Given the description of an element on the screen output the (x, y) to click on. 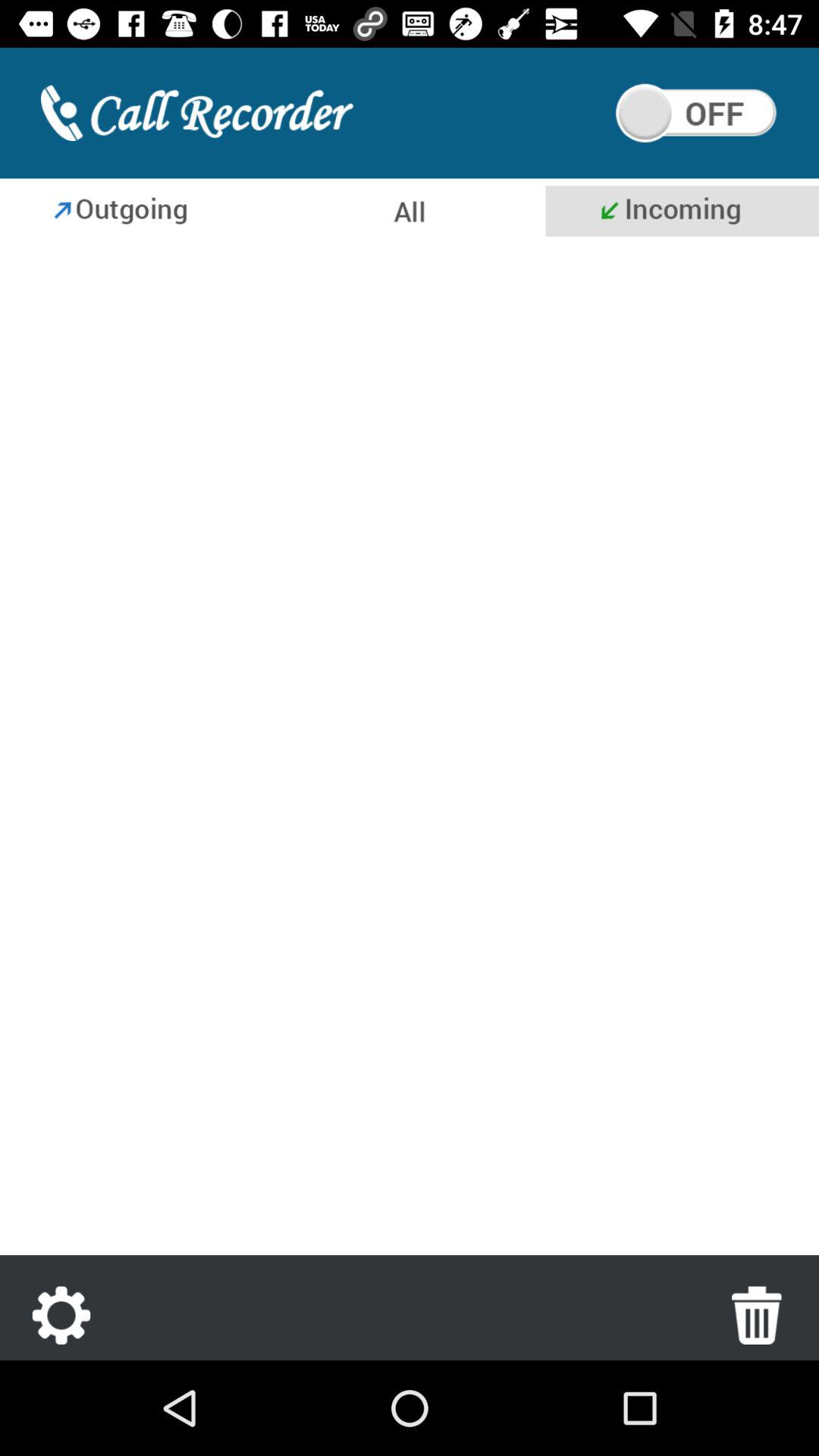
click the page (409, 749)
